Given the description of an element on the screen output the (x, y) to click on. 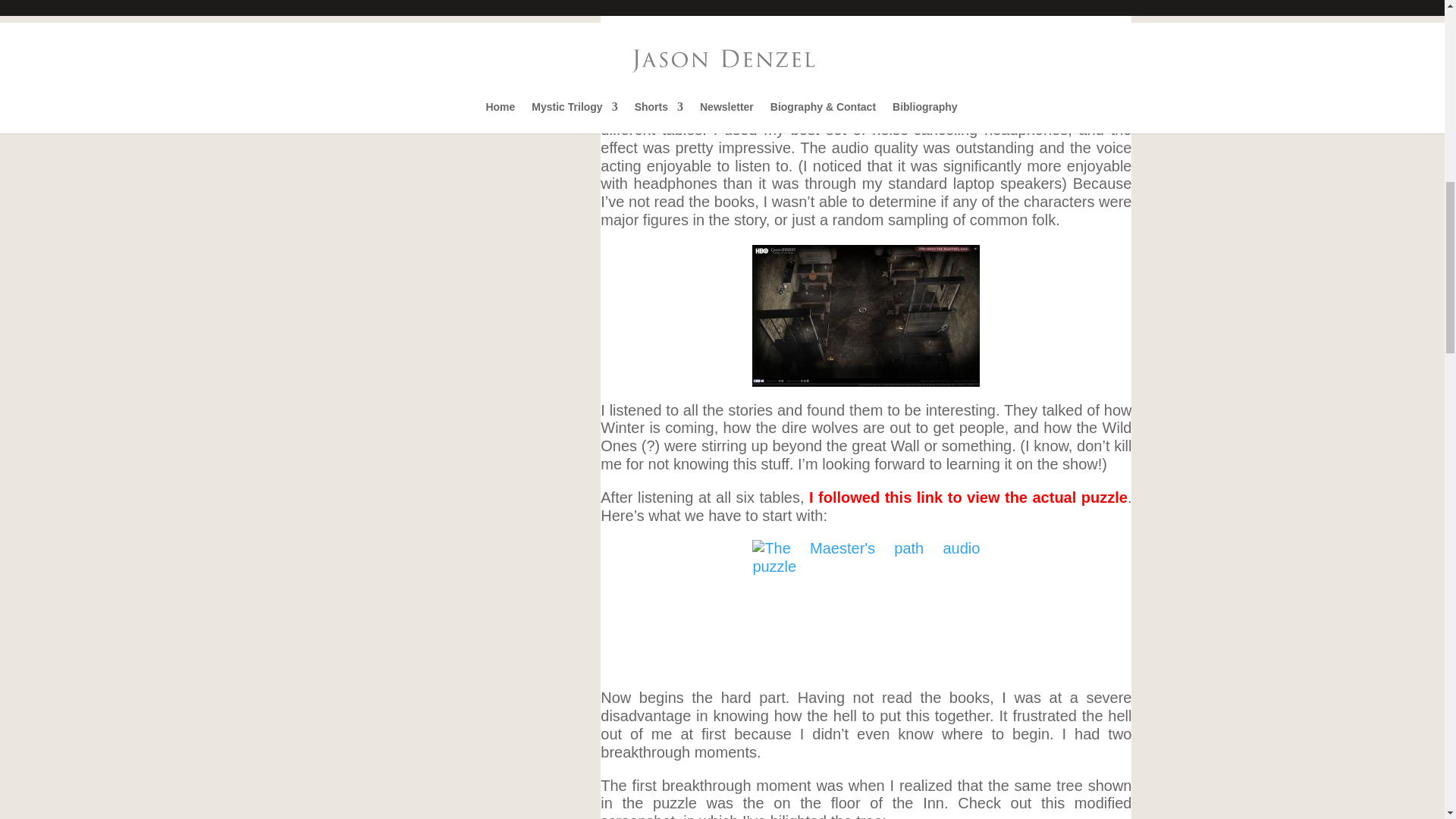
I followed this link to view the actual puzzle (967, 497)
The Maester's path audio puzzle (865, 606)
The Inn at the Crossroads (865, 315)
